Given the description of an element on the screen output the (x, y) to click on. 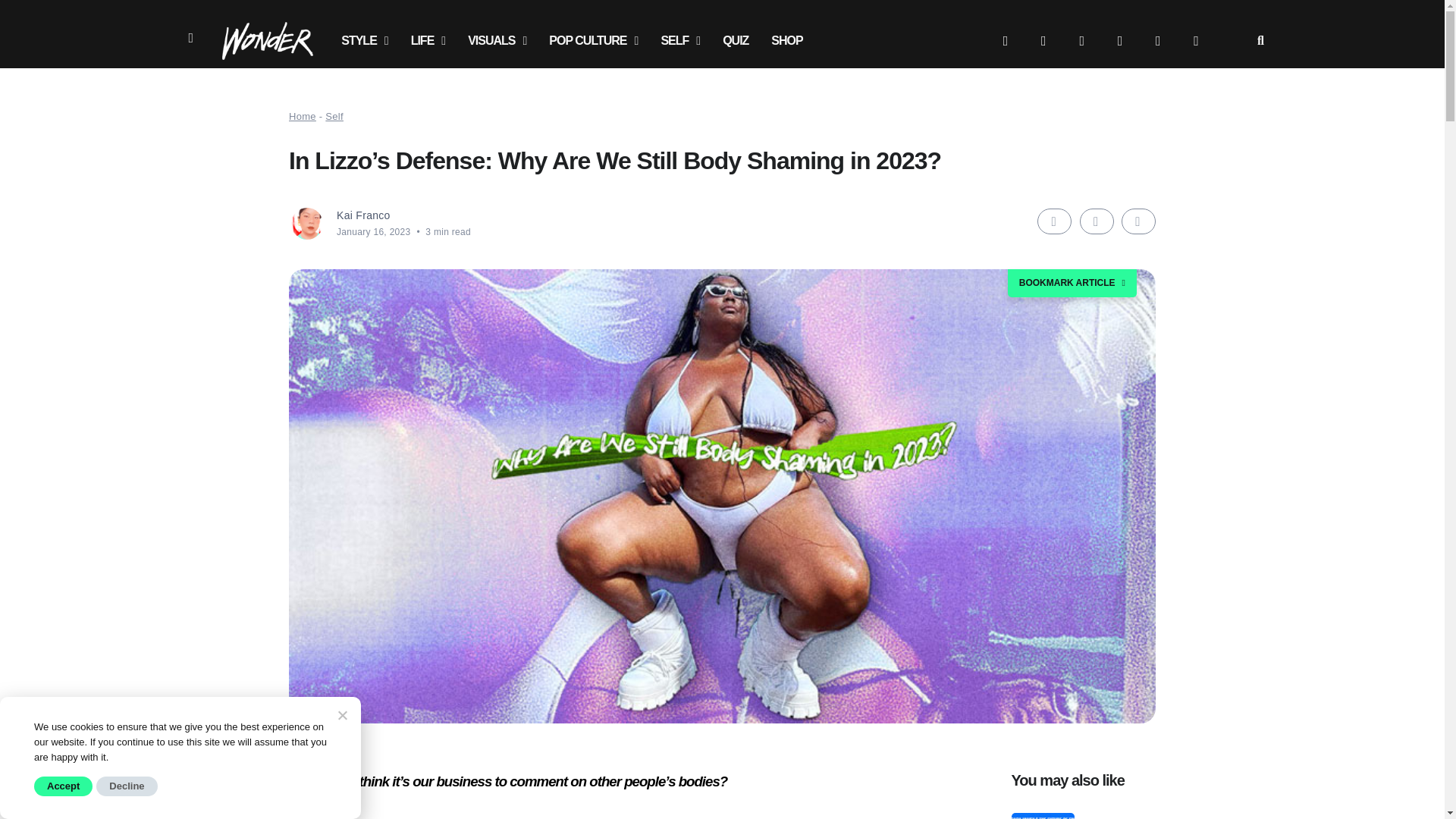
LIFE (427, 40)
VISUALS (497, 40)
STYLE (364, 40)
SHOP (786, 40)
Decline (341, 714)
POP CULTURE (593, 40)
SELF (680, 40)
QUIZ (735, 40)
